Given the description of an element on the screen output the (x, y) to click on. 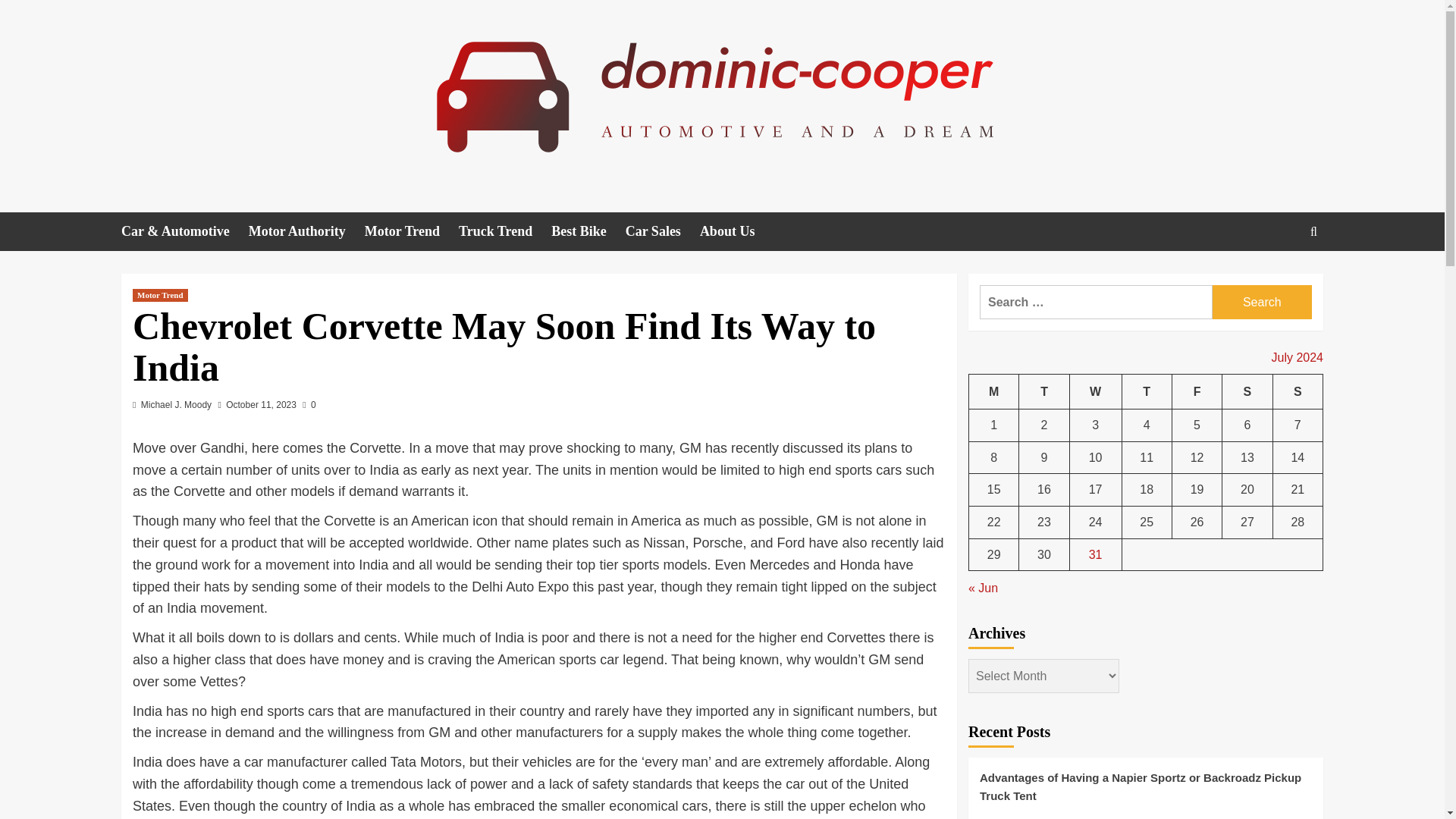
Best Bike (588, 231)
October 11, 2023 (261, 404)
Car Sales (663, 231)
0 (308, 404)
Thursday (1146, 391)
Sunday (1297, 391)
Tuesday (1043, 391)
Search (1278, 277)
Motor Authority (306, 231)
Saturday (1247, 391)
Monday (994, 391)
About Us (737, 231)
Search (1261, 302)
Michael J. Moody (176, 404)
Truck Trend (504, 231)
